Given the description of an element on the screen output the (x, y) to click on. 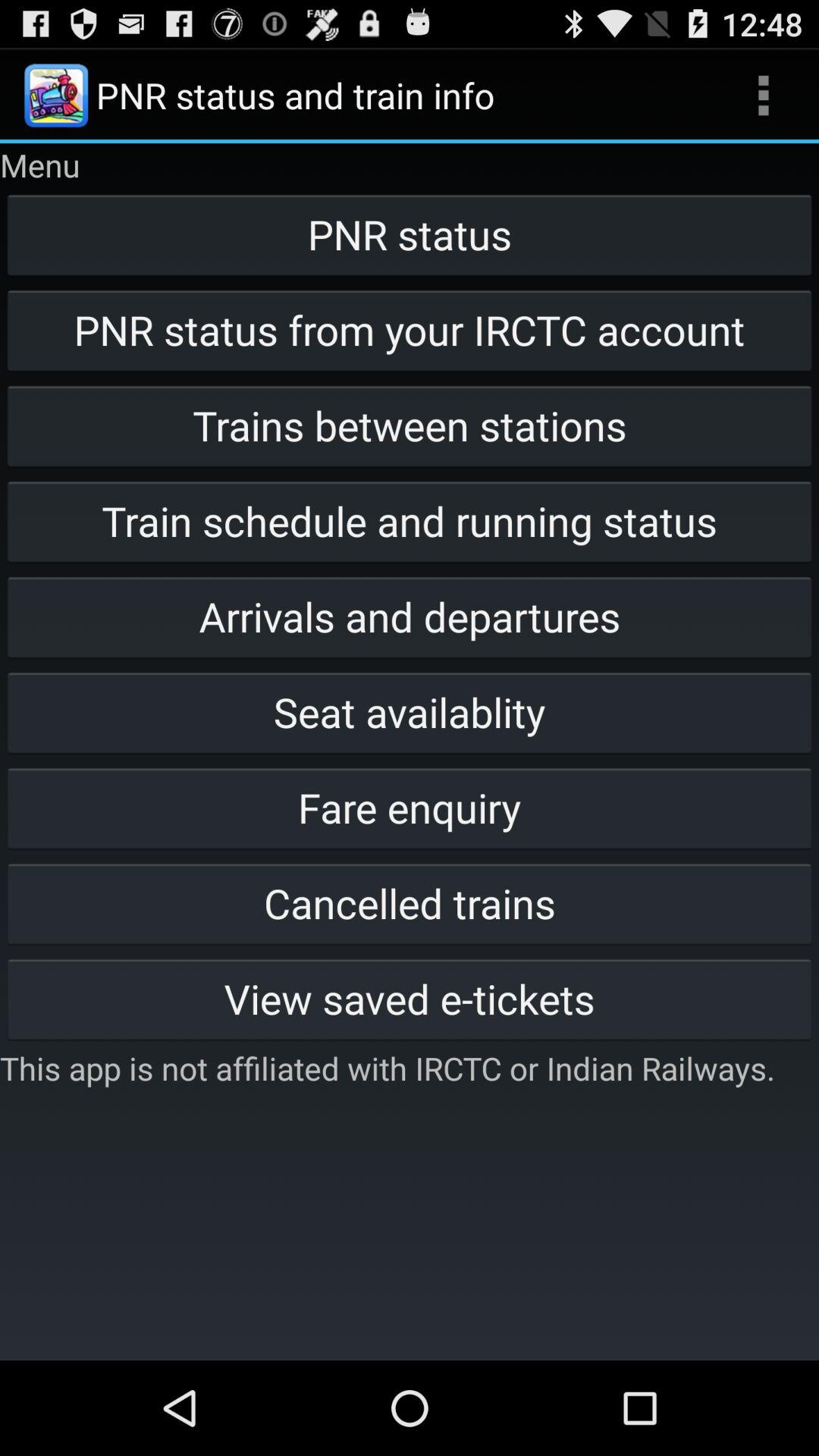
scroll to the trains between stations item (409, 425)
